Given the description of an element on the screen output the (x, y) to click on. 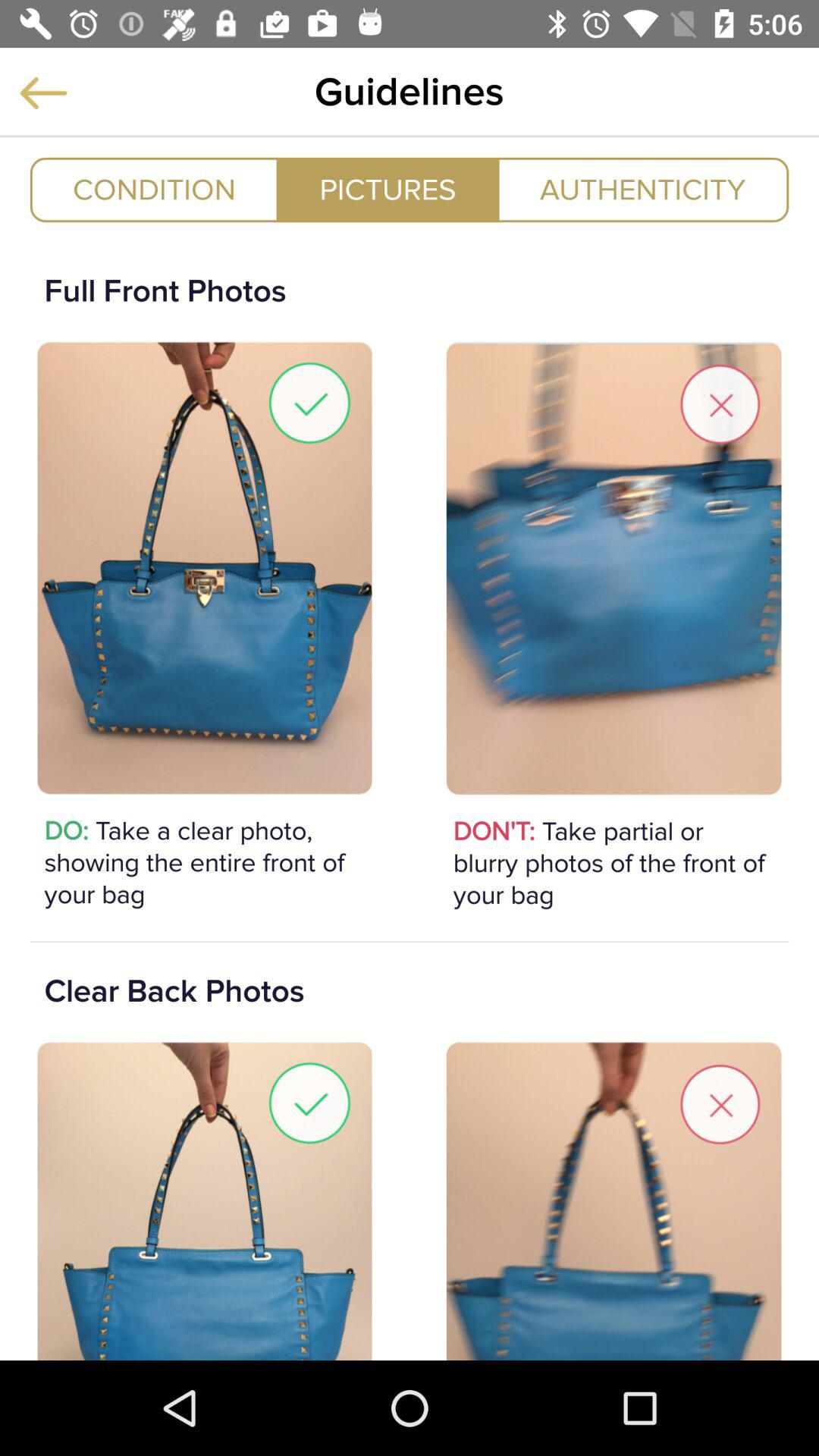
press icon above the full front photos (387, 189)
